Given the description of an element on the screen output the (x, y) to click on. 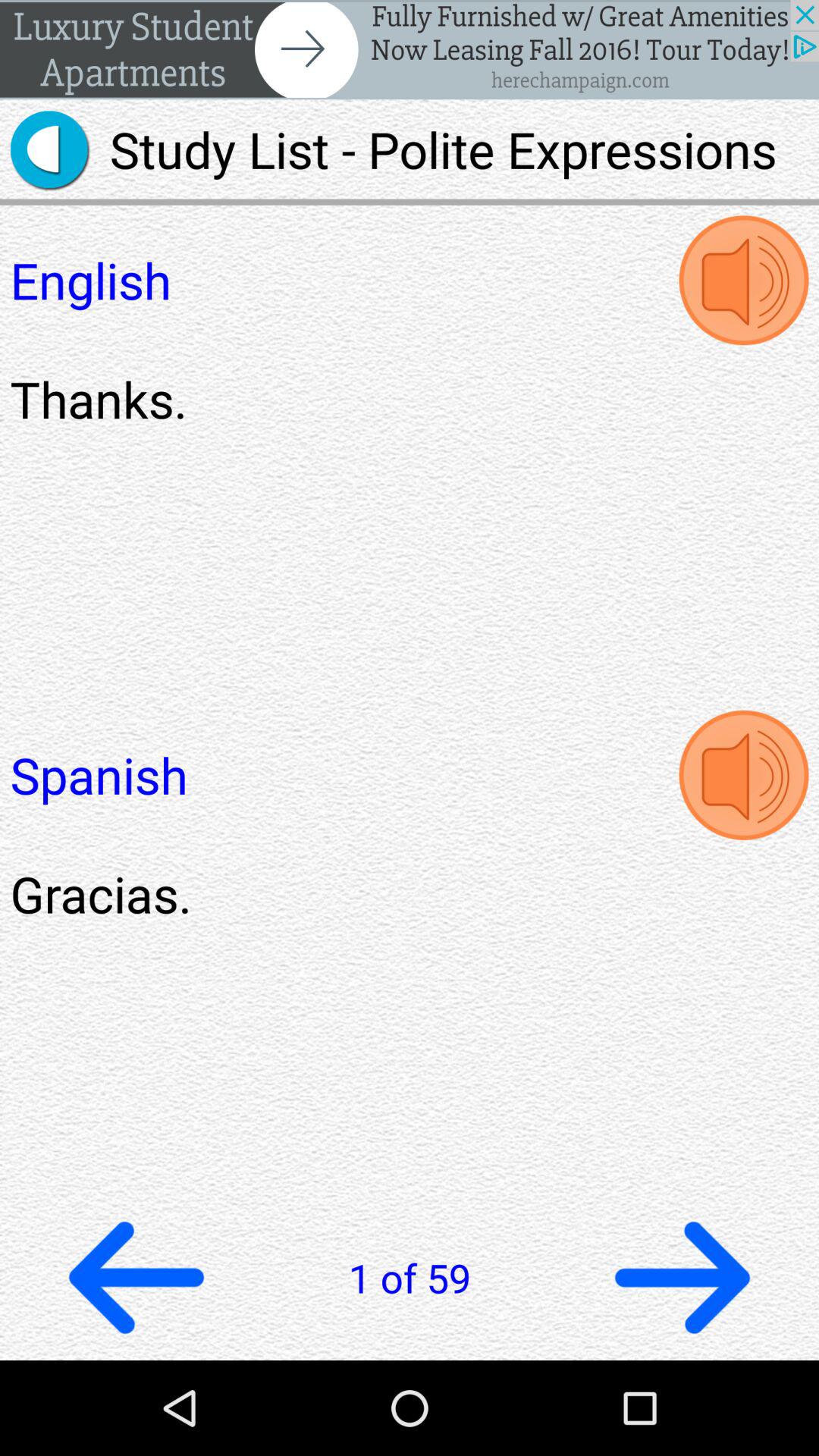
header advertisement window (409, 49)
